Given the description of an element on the screen output the (x, y) to click on. 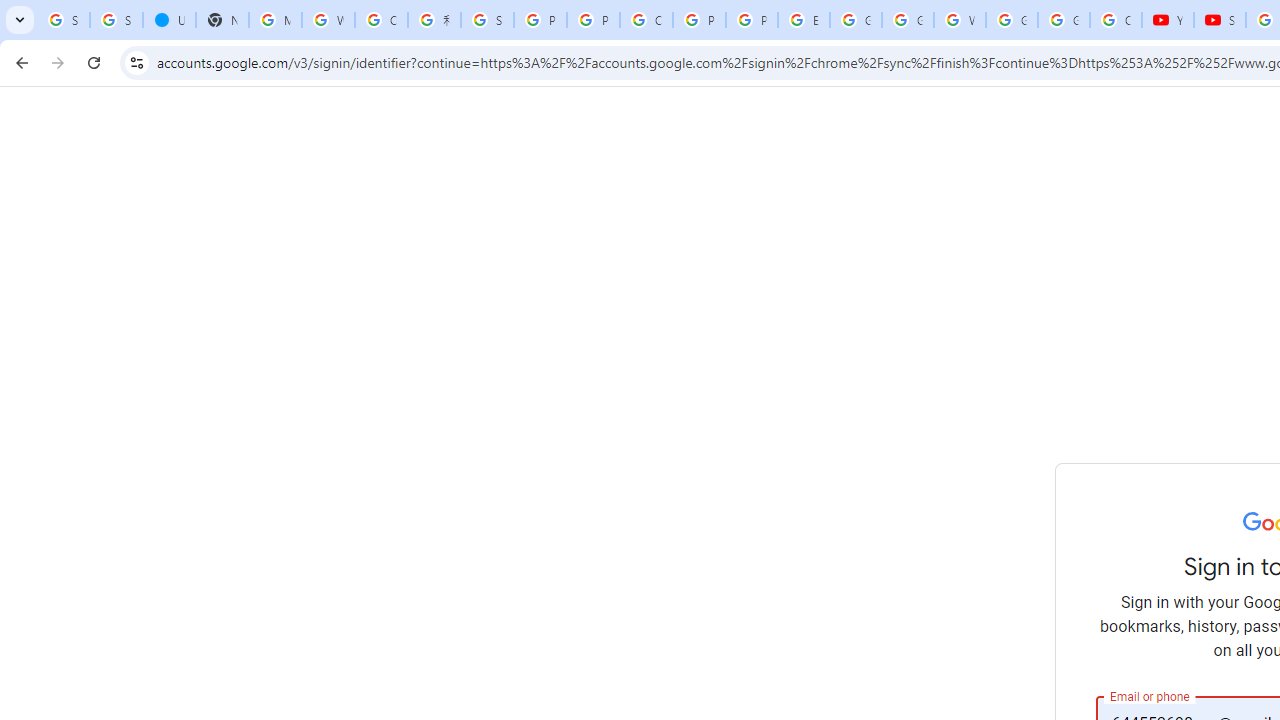
Edit and view right-to-left text - Google Docs Editors Help (803, 20)
Google Account (1064, 20)
Subscriptions - YouTube (1219, 20)
Sign in - Google Accounts (63, 20)
Create your Google Account (646, 20)
USA TODAY (169, 20)
Welcome to My Activity (959, 20)
Google Slides: Sign-in (855, 20)
New Tab (222, 20)
